Given the description of an element on the screen output the (x, y) to click on. 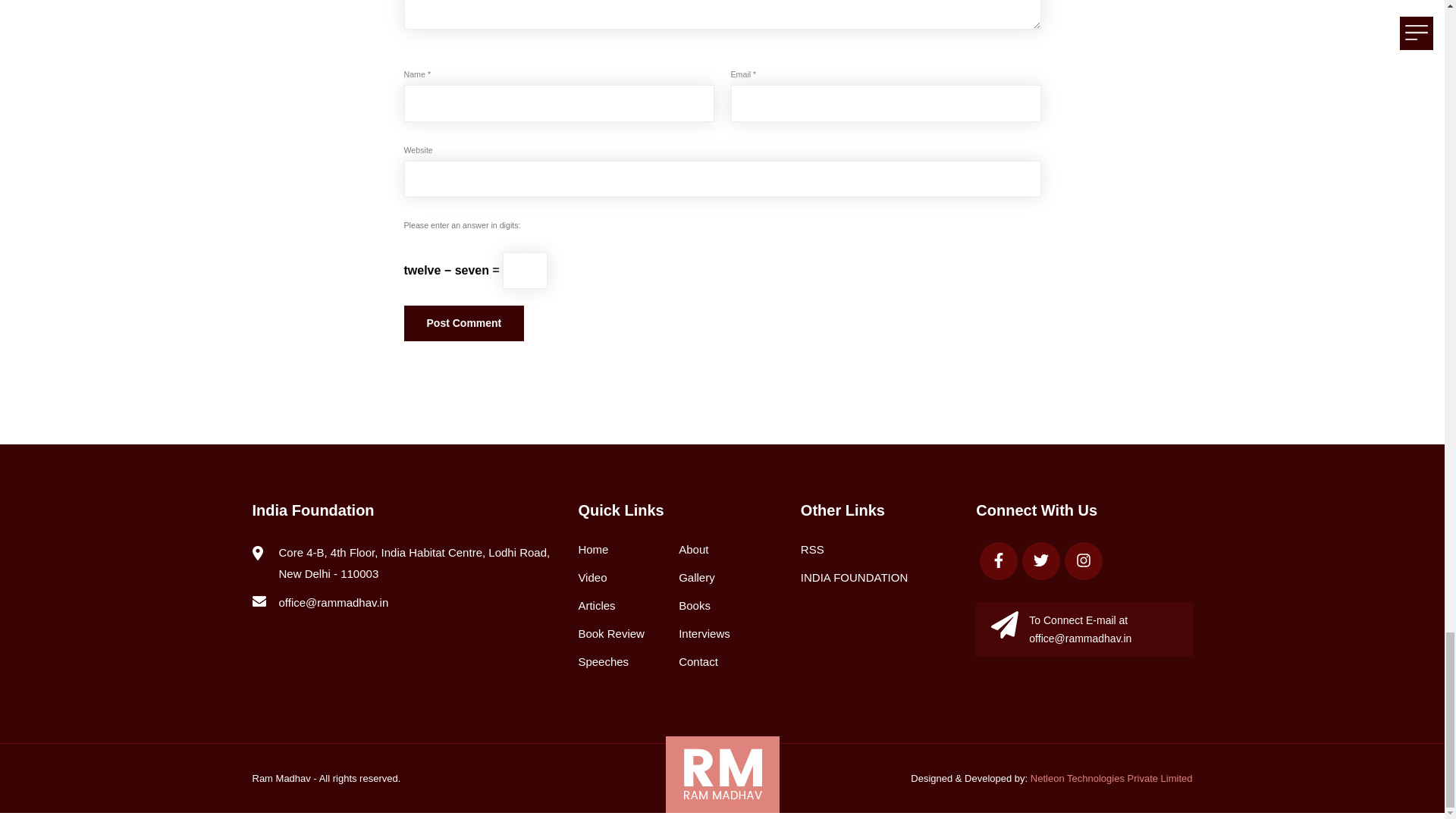
Post Comment (463, 323)
